Given the description of an element on the screen output the (x, y) to click on. 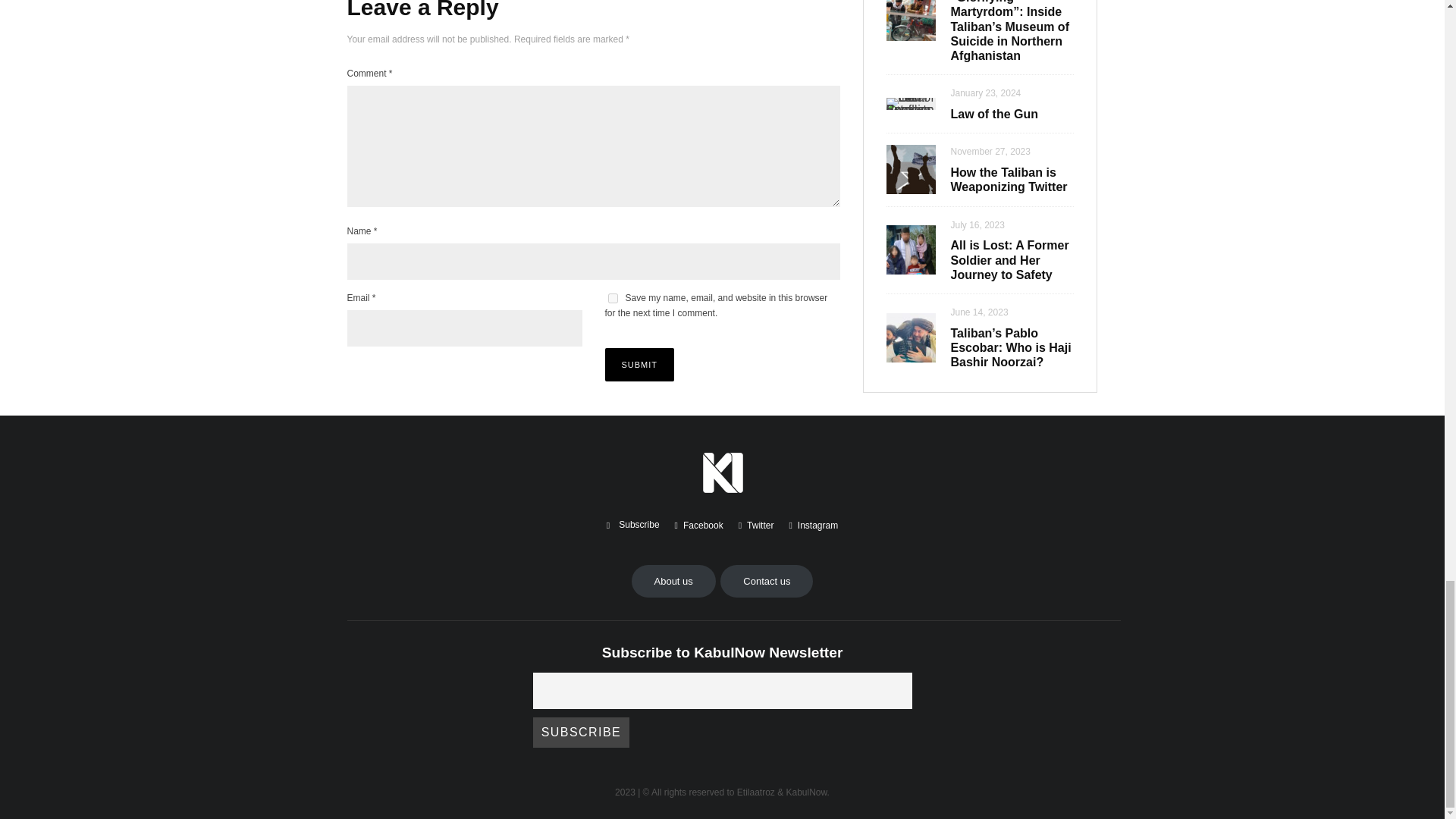
Subscribe (580, 732)
Submit (640, 364)
yes (612, 298)
